Given the description of an element on the screen output the (x, y) to click on. 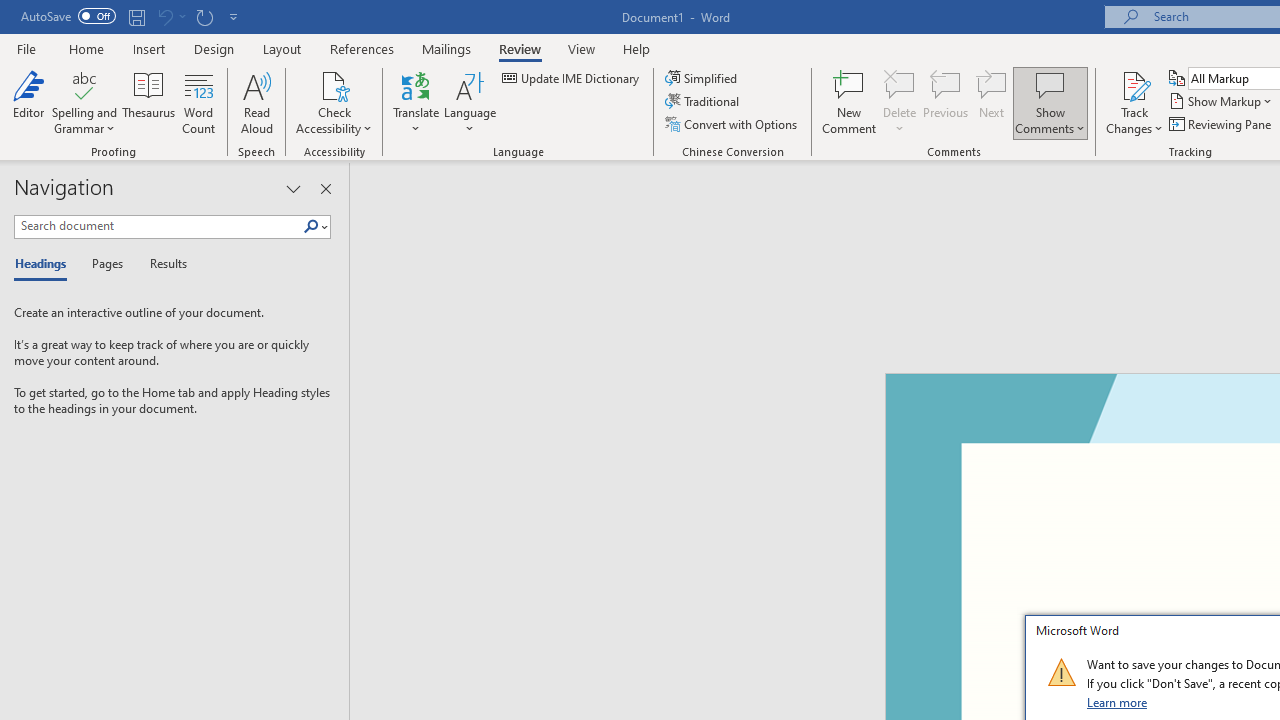
Thesaurus... (148, 102)
Previous (946, 102)
Can't Undo (170, 15)
Read Aloud (256, 102)
Reviewing Pane (1221, 124)
